Given the description of an element on the screen output the (x, y) to click on. 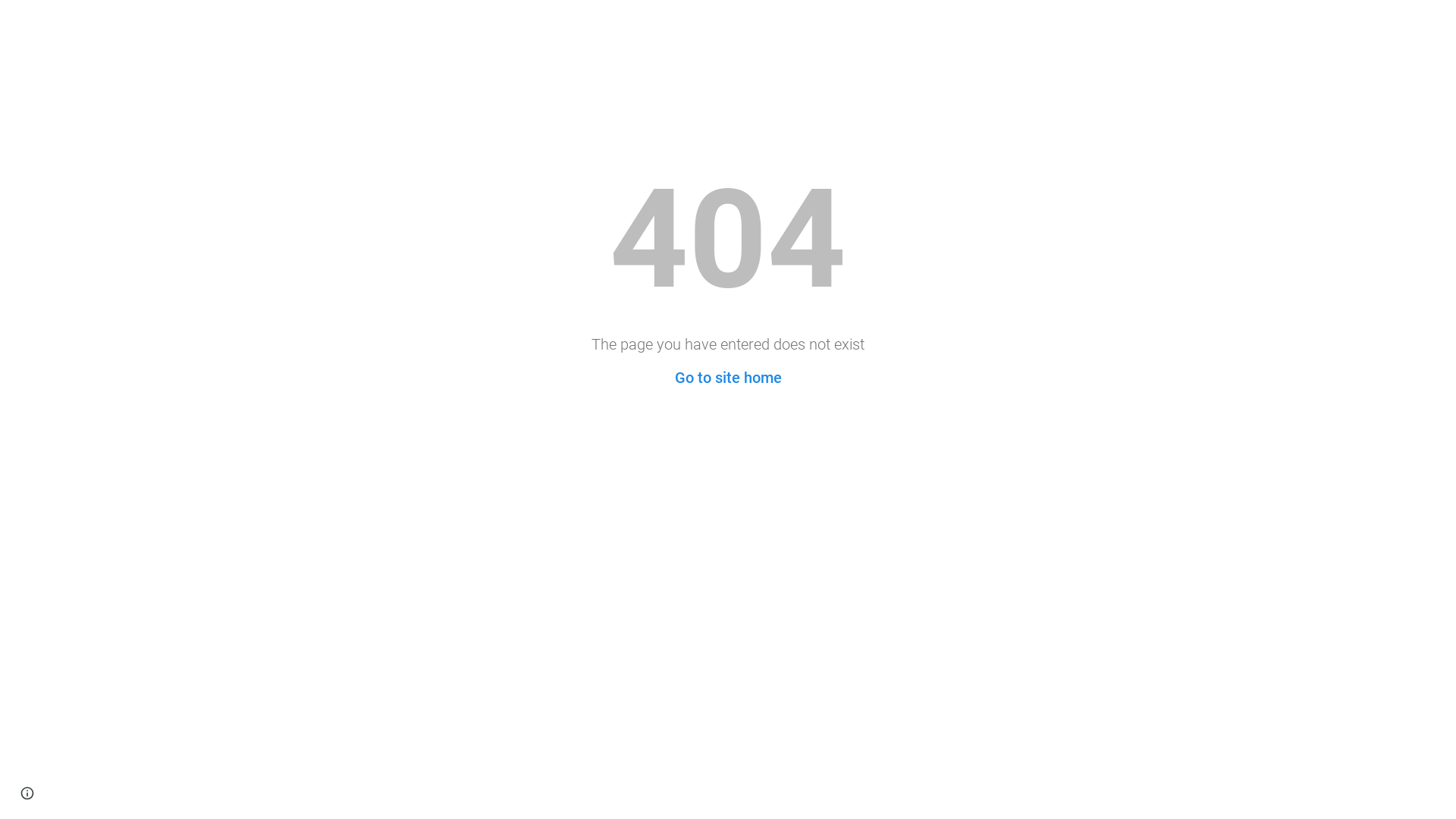
Go to site home Element type: text (727, 377)
